Given the description of an element on the screen output the (x, y) to click on. 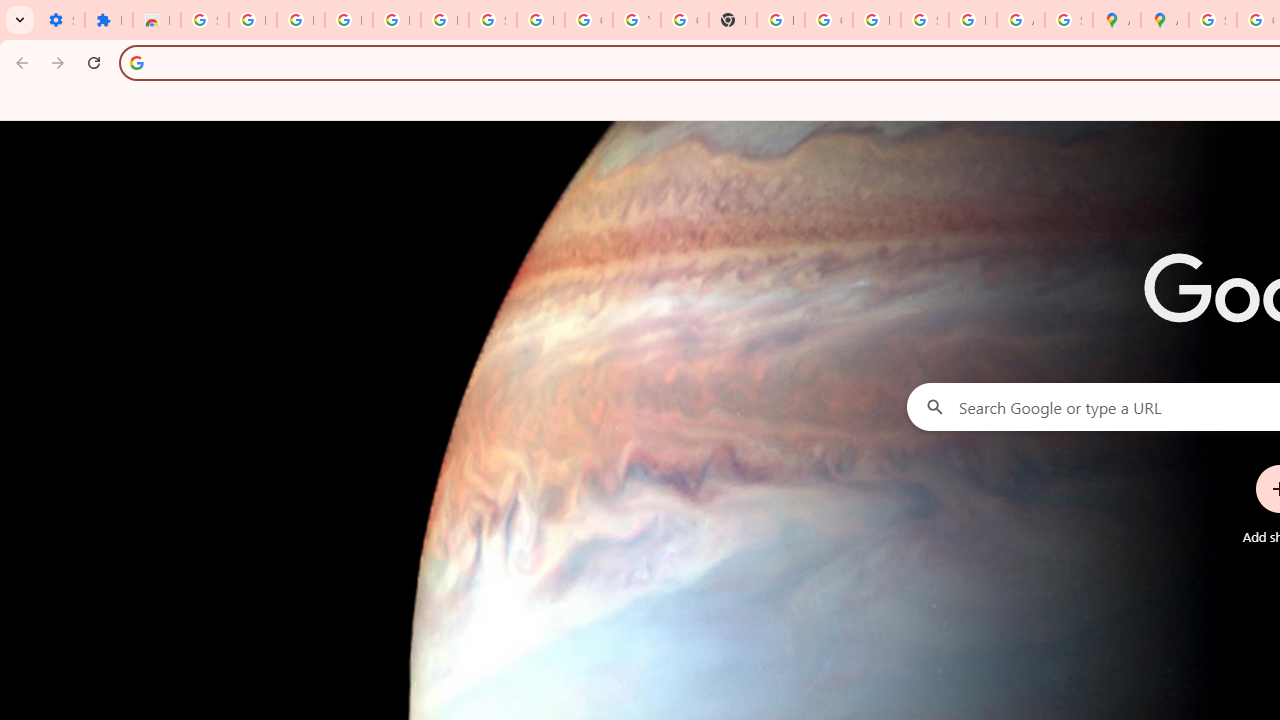
Settings - On startup (60, 20)
New Tab (732, 20)
Google Account (588, 20)
https://scholar.google.com/ (780, 20)
